Given the description of an element on the screen output the (x, y) to click on. 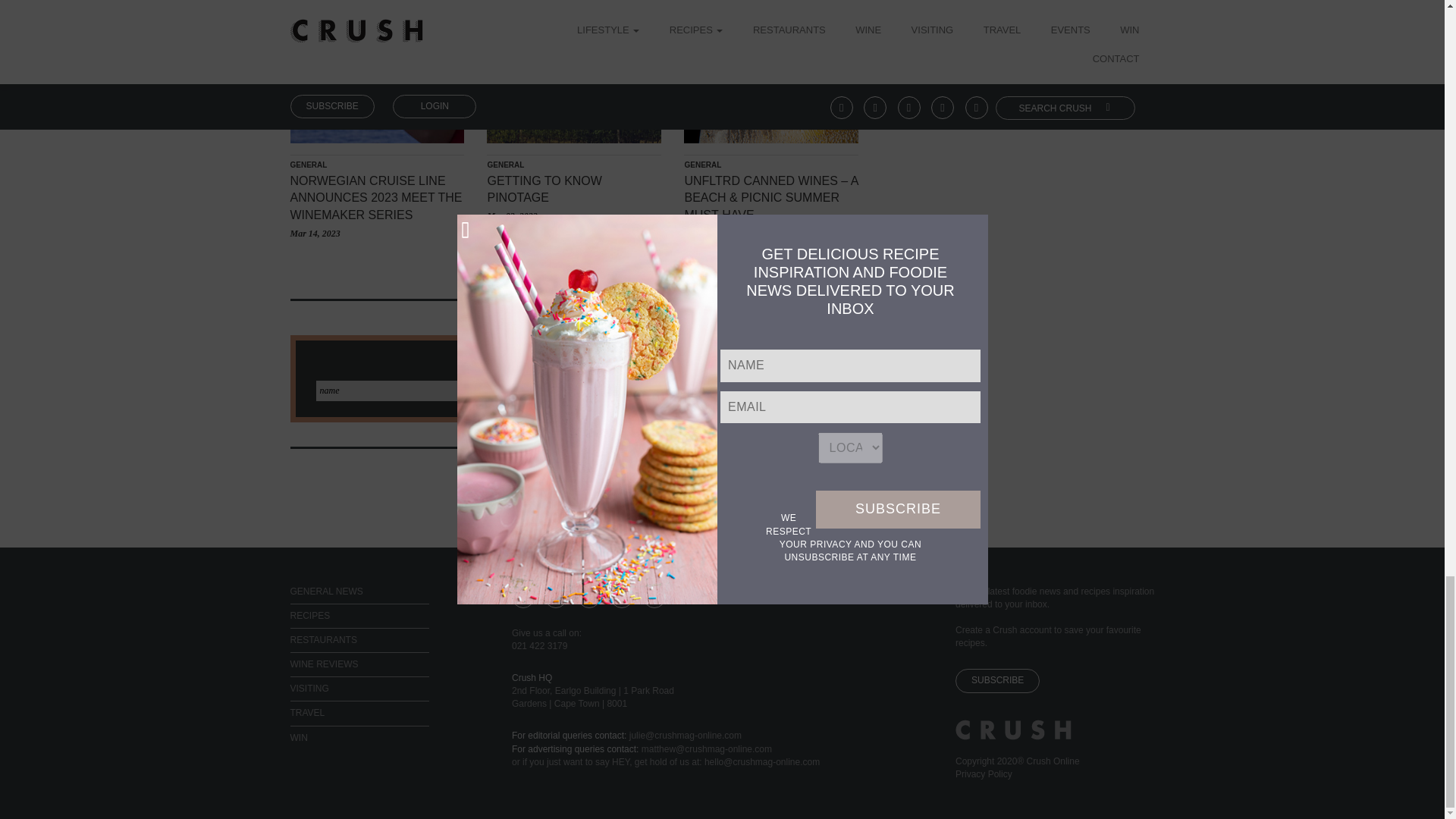
SUBSCRIBE (801, 390)
